Given the description of an element on the screen output the (x, y) to click on. 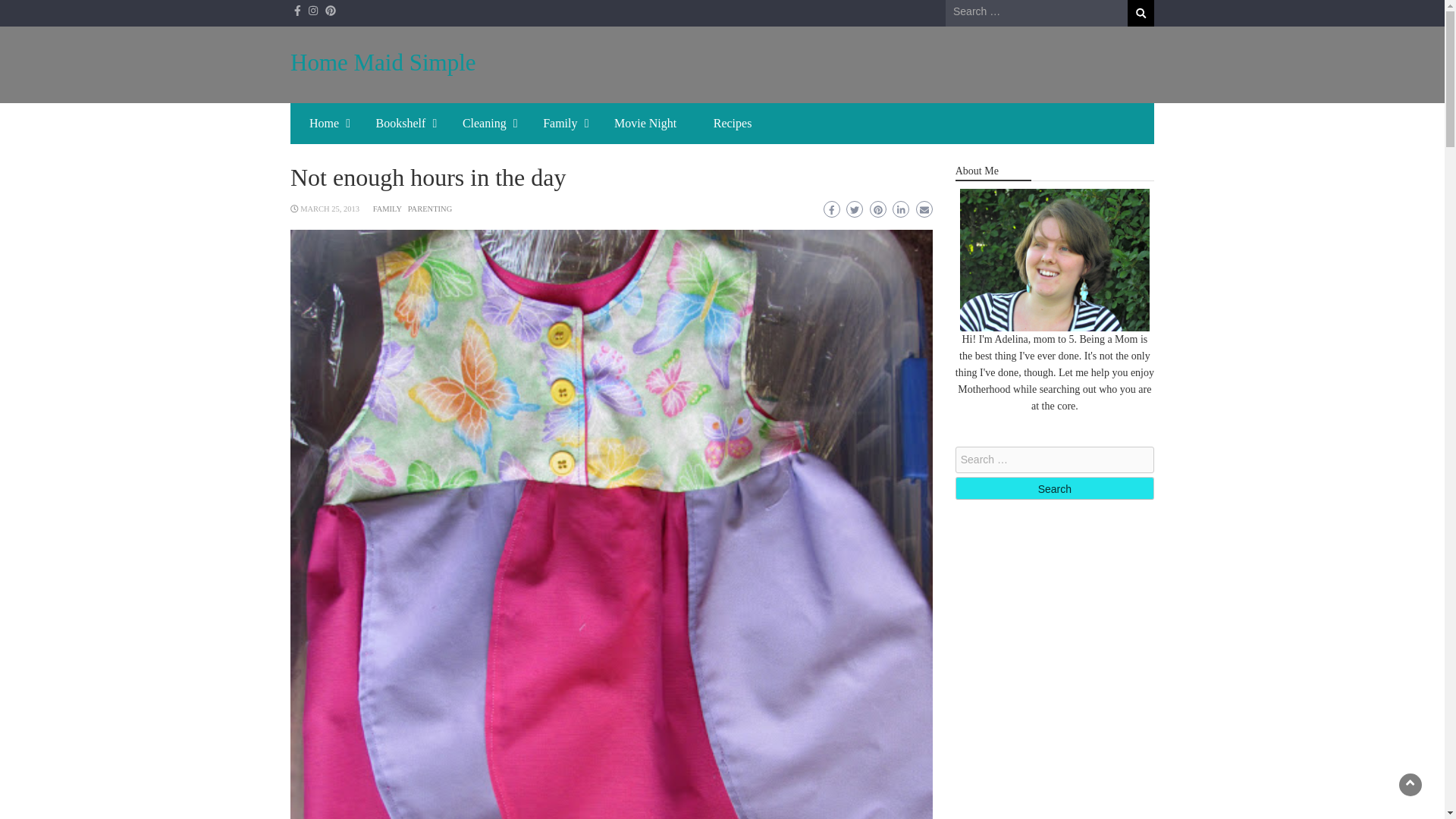
Search (1140, 13)
Search (1140, 13)
Bookshelf (401, 123)
Home Maid Simple (382, 62)
Family (559, 123)
Search (1140, 13)
MARCH 25, 2013 (329, 208)
Movie Night (644, 123)
Search for: (1035, 11)
Search (1054, 487)
Cleaning (483, 123)
Home (323, 123)
Search (1054, 487)
PARENTING (429, 208)
FAMILY (386, 208)
